Given the description of an element on the screen output the (x, y) to click on. 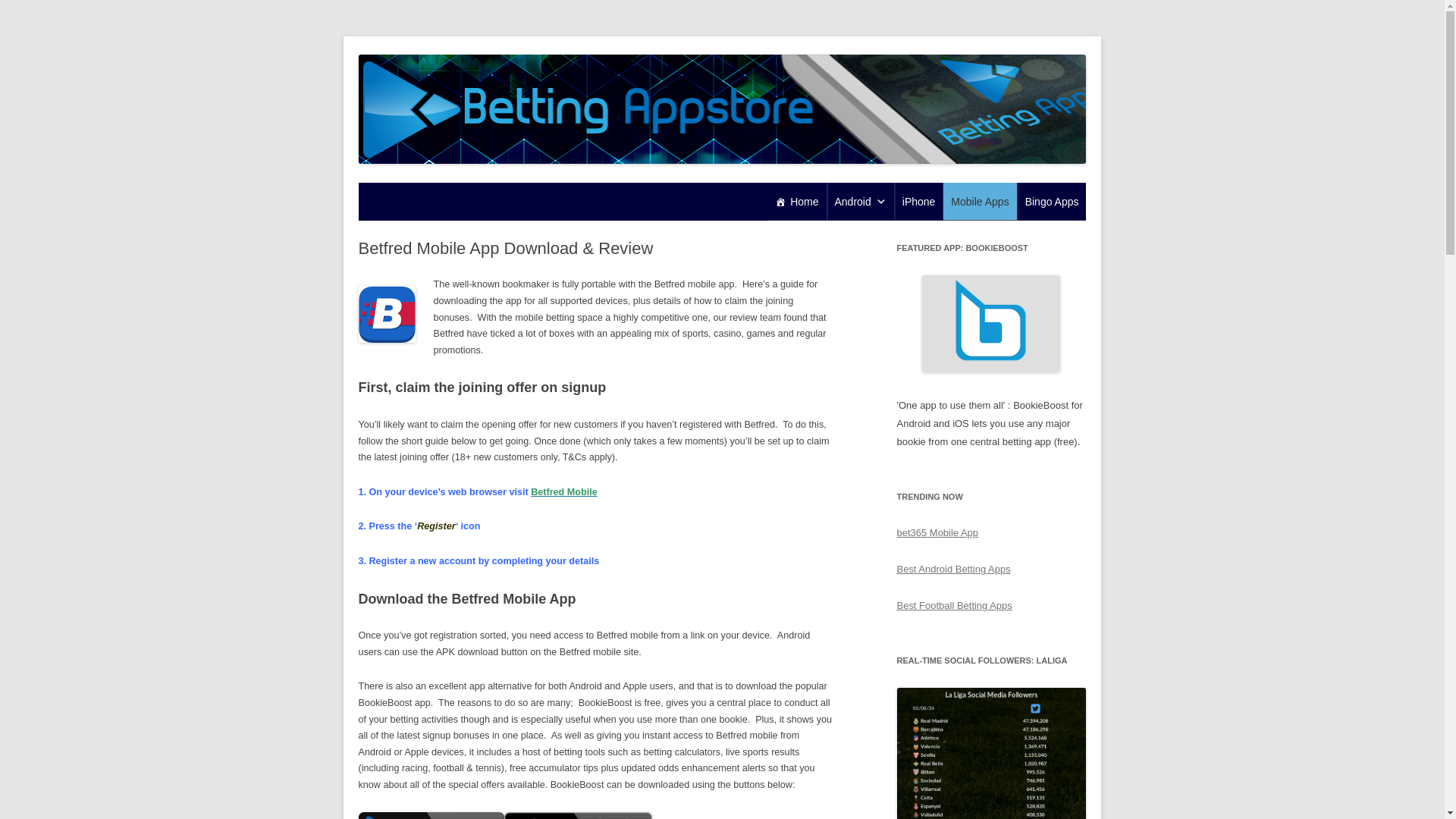
Android (860, 201)
Betfred Mobile (563, 491)
Mobile Apps (979, 201)
Home (796, 201)
Best Android Betting Apps (953, 568)
Bingo Apps (1051, 201)
Best Football Betting Apps (953, 604)
iPhone (919, 201)
